Given the description of an element on the screen output the (x, y) to click on. 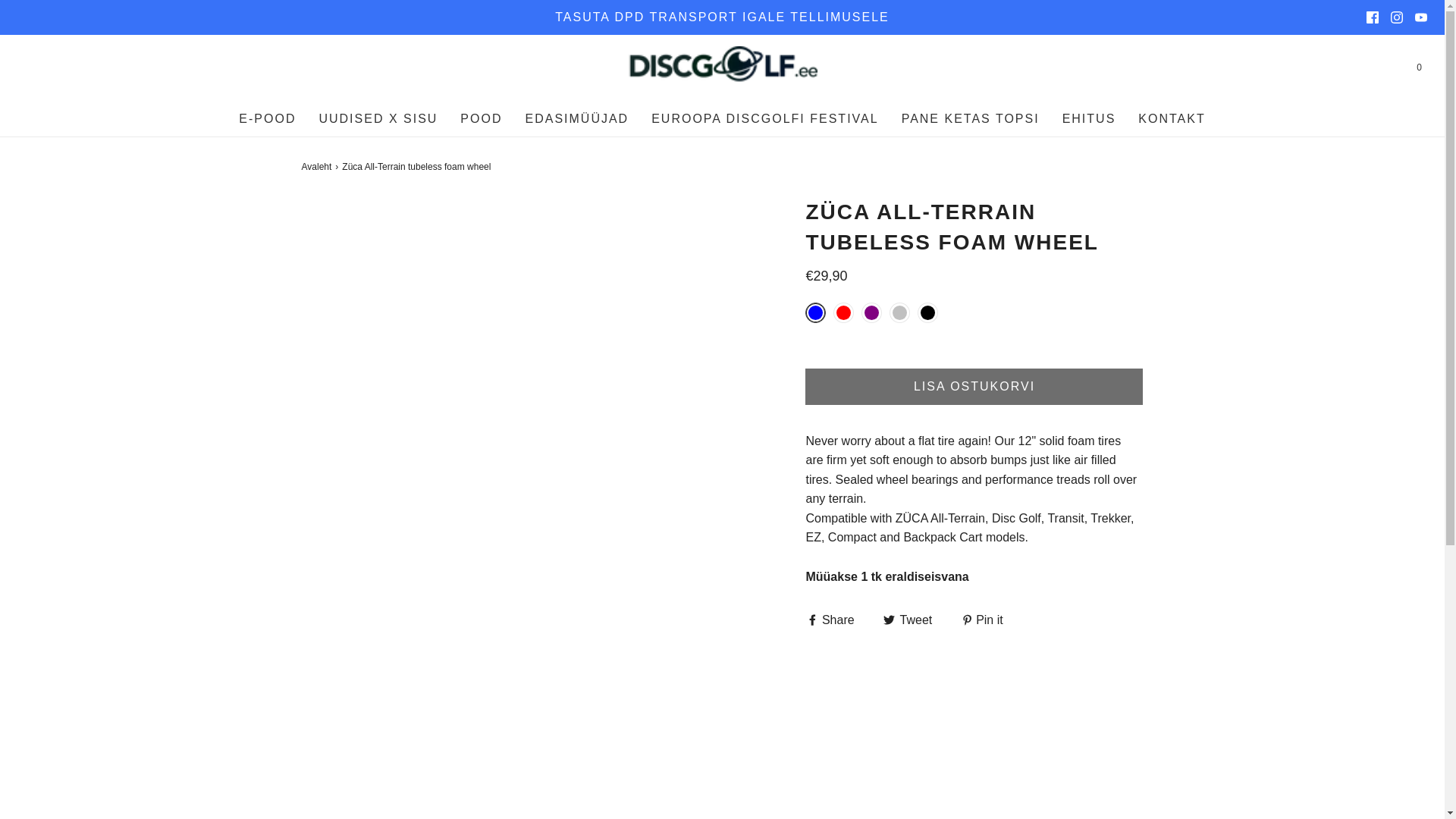
FACEBOOK ICON (1372, 17)
INSTAGRAM ICON (1396, 17)
PANE KETAS TOPSI (970, 118)
FACEBOOK ICON (1372, 17)
EUROOPA DISCGOLFI FESTIVAL (763, 118)
YOUTUBE ICON (1420, 17)
E-POOD (266, 118)
Tagasi esilehele (318, 166)
INSTAGRAM ICON (1396, 17)
POOD (481, 118)
